Given the description of an element on the screen output the (x, y) to click on. 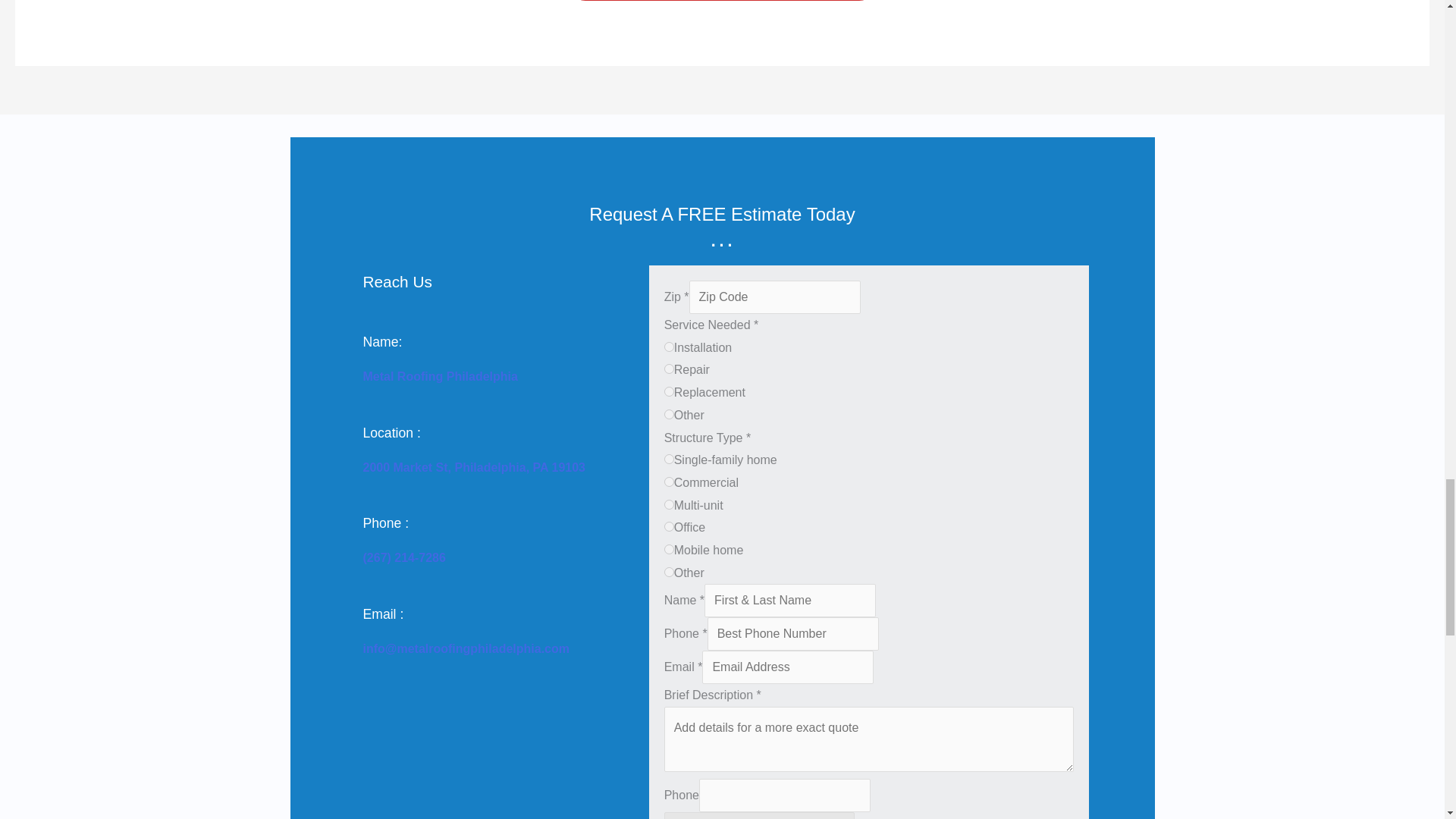
Other (668, 414)
Installation (668, 347)
Multi-unit (668, 504)
Office (668, 526)
Commercial (668, 481)
Repair (668, 368)
Other (668, 572)
Mobile home (668, 549)
Replacement (668, 391)
Single-family home (668, 459)
